Given the description of an element on the screen output the (x, y) to click on. 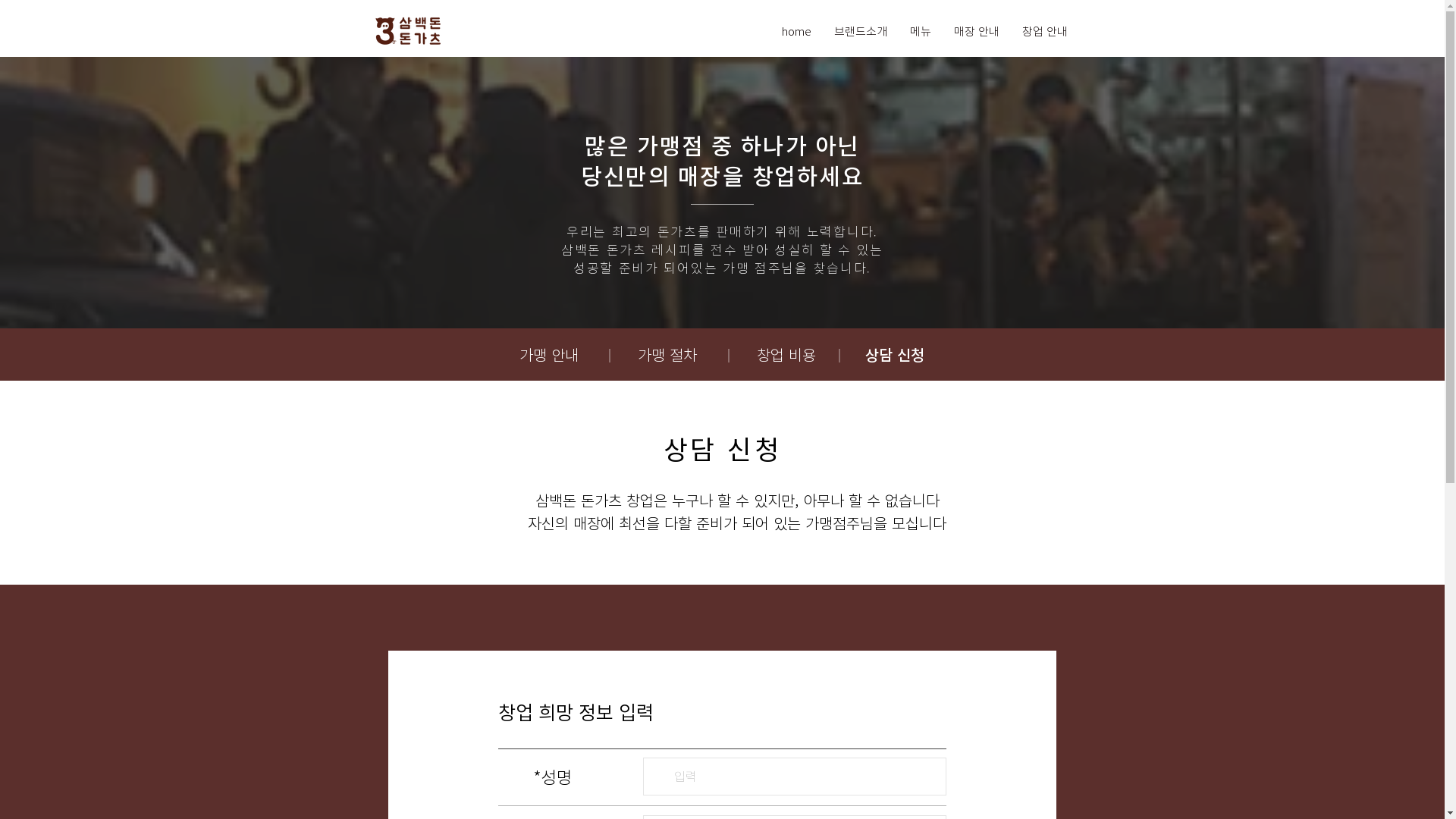
home Element type: text (796, 31)
& Element type: text (377, 30)
